Given the description of an element on the screen output the (x, y) to click on. 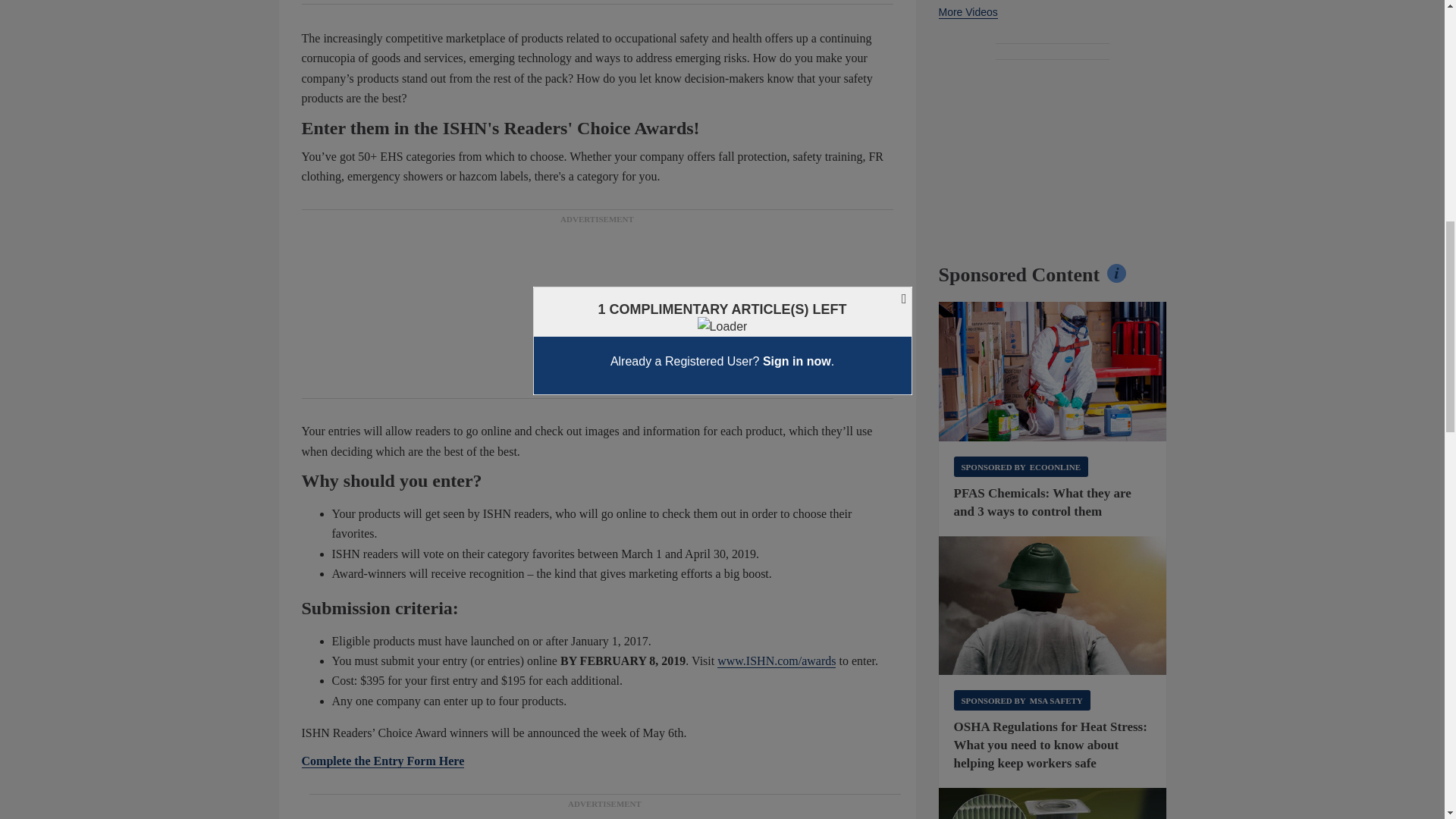
Sponsored by EcoOnline (1021, 466)
chemical safety (1052, 371)
Sponsored by MSA Safety (1021, 700)
man working in summer heat (1052, 605)
dust collector filters and media (1052, 803)
